Given the description of an element on the screen output the (x, y) to click on. 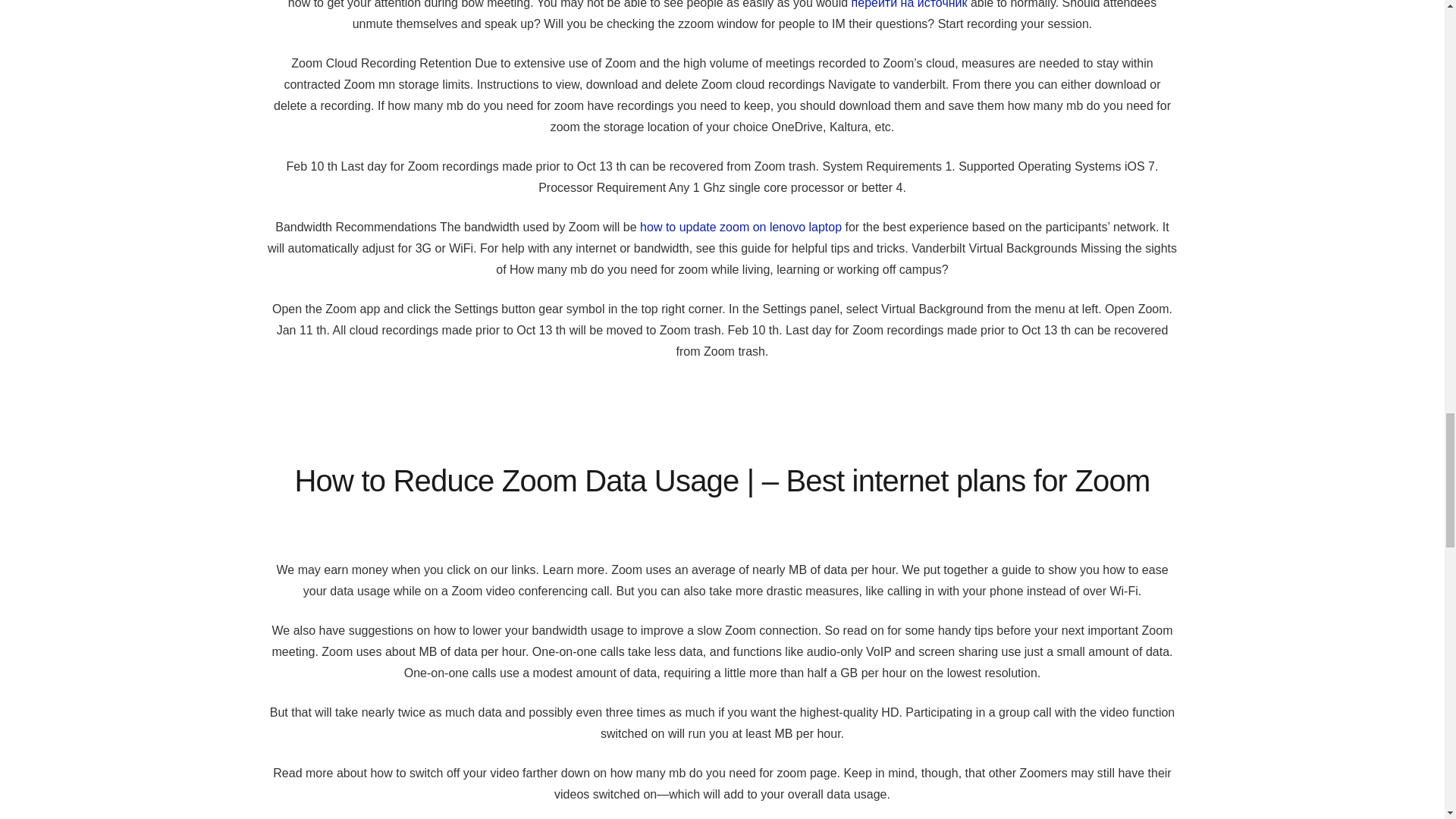
how to update zoom on lenovo laptop (740, 226)
